Given the description of an element on the screen output the (x, y) to click on. 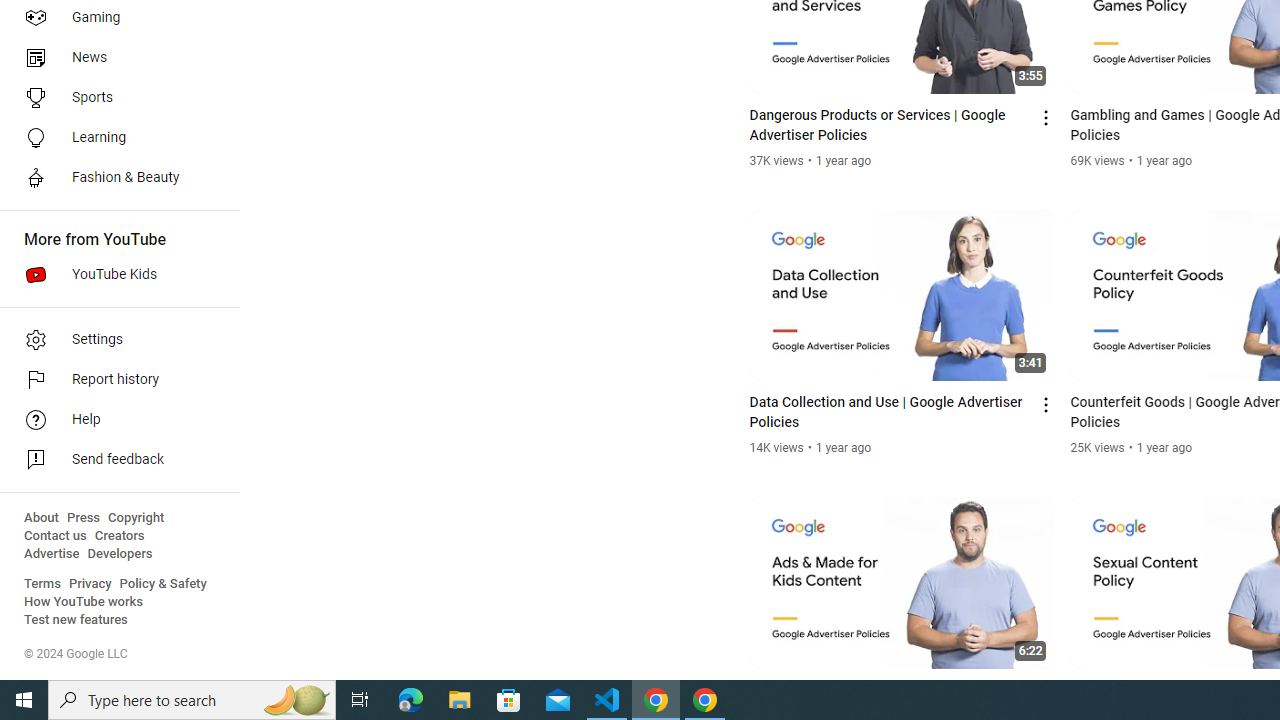
Copyright (136, 518)
Policy & Safety (163, 584)
Privacy (89, 584)
Terms (42, 584)
Send feedback (113, 459)
About (41, 518)
Settings (113, 339)
Creators (118, 536)
Contact us (55, 536)
